Given the description of an element on the screen output the (x, y) to click on. 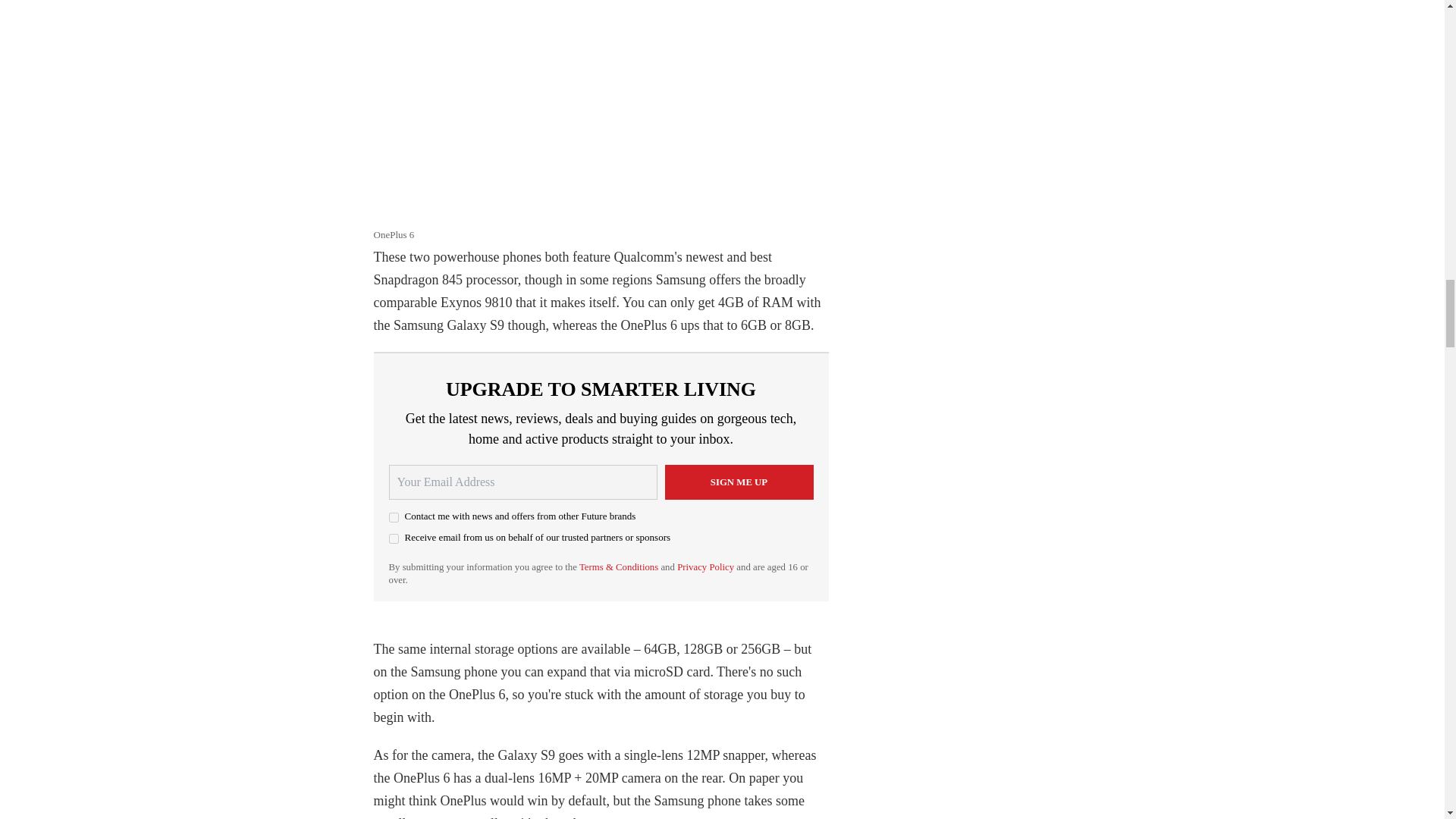
Sign me up (737, 482)
on (392, 538)
on (392, 517)
